Given the description of an element on the screen output the (x, y) to click on. 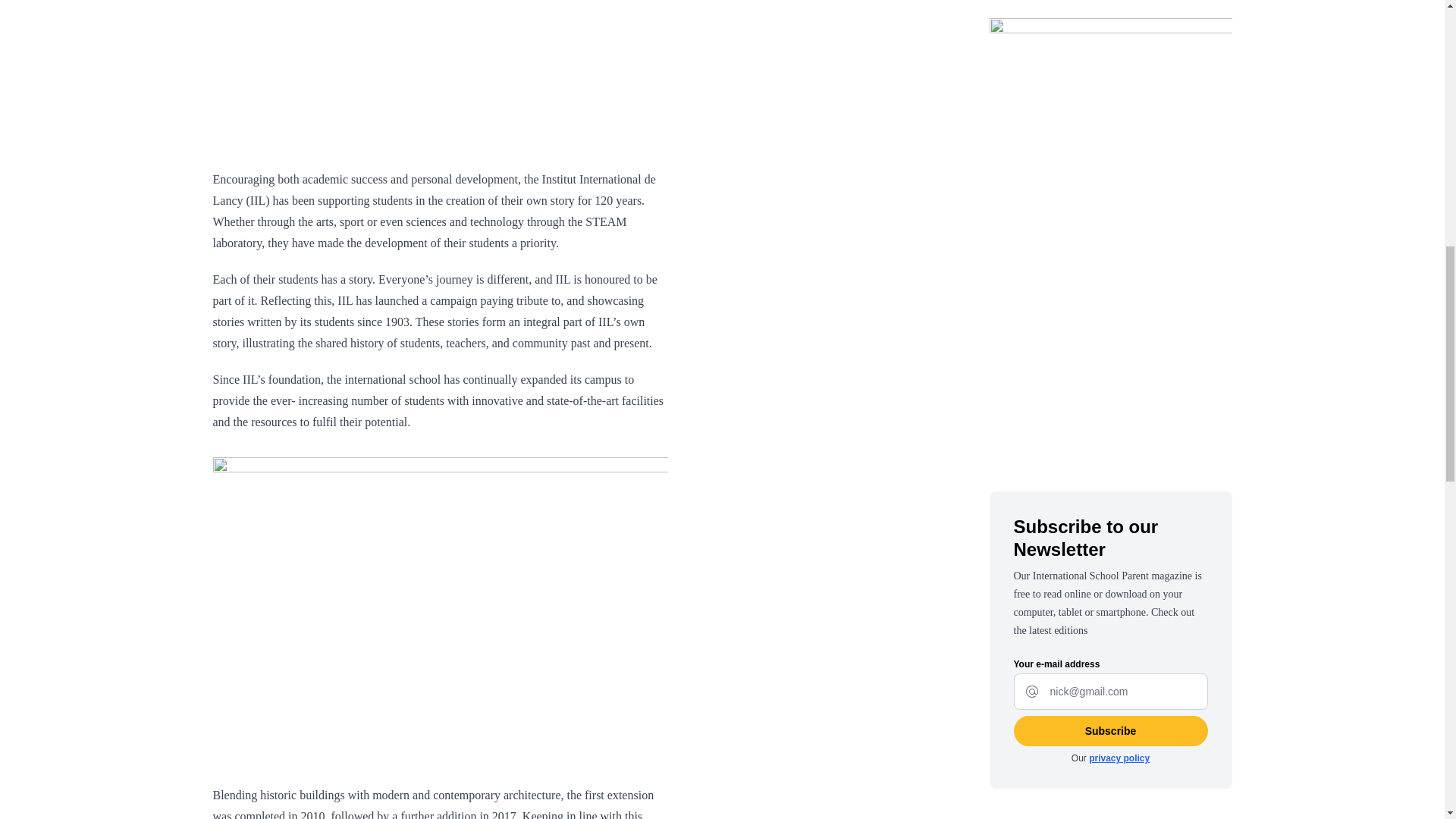
Subscribe (1110, 730)
privacy policy (1119, 757)
Subscribe (1110, 730)
